Given the description of an element on the screen output the (x, y) to click on. 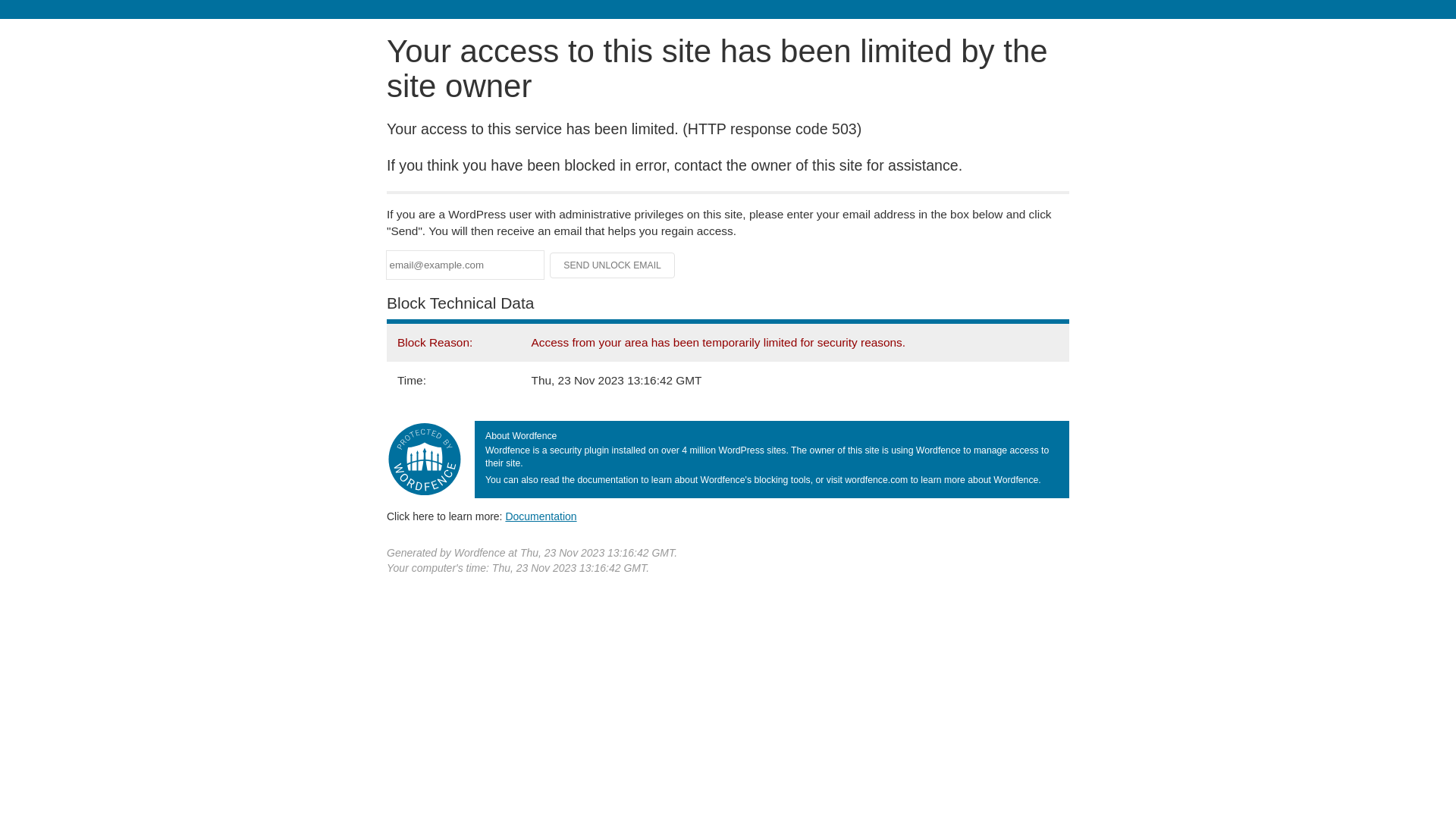
Documentation Element type: text (540, 516)
Send Unlock Email Element type: text (612, 265)
